Given the description of an element on the screen output the (x, y) to click on. 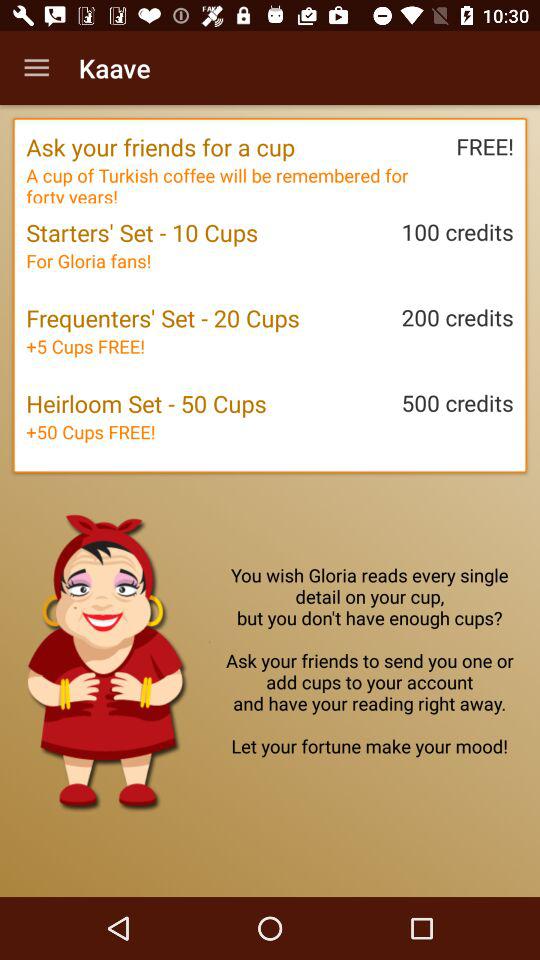
launch the icon to the left of the kaave item (36, 68)
